Given the description of an element on the screen output the (x, y) to click on. 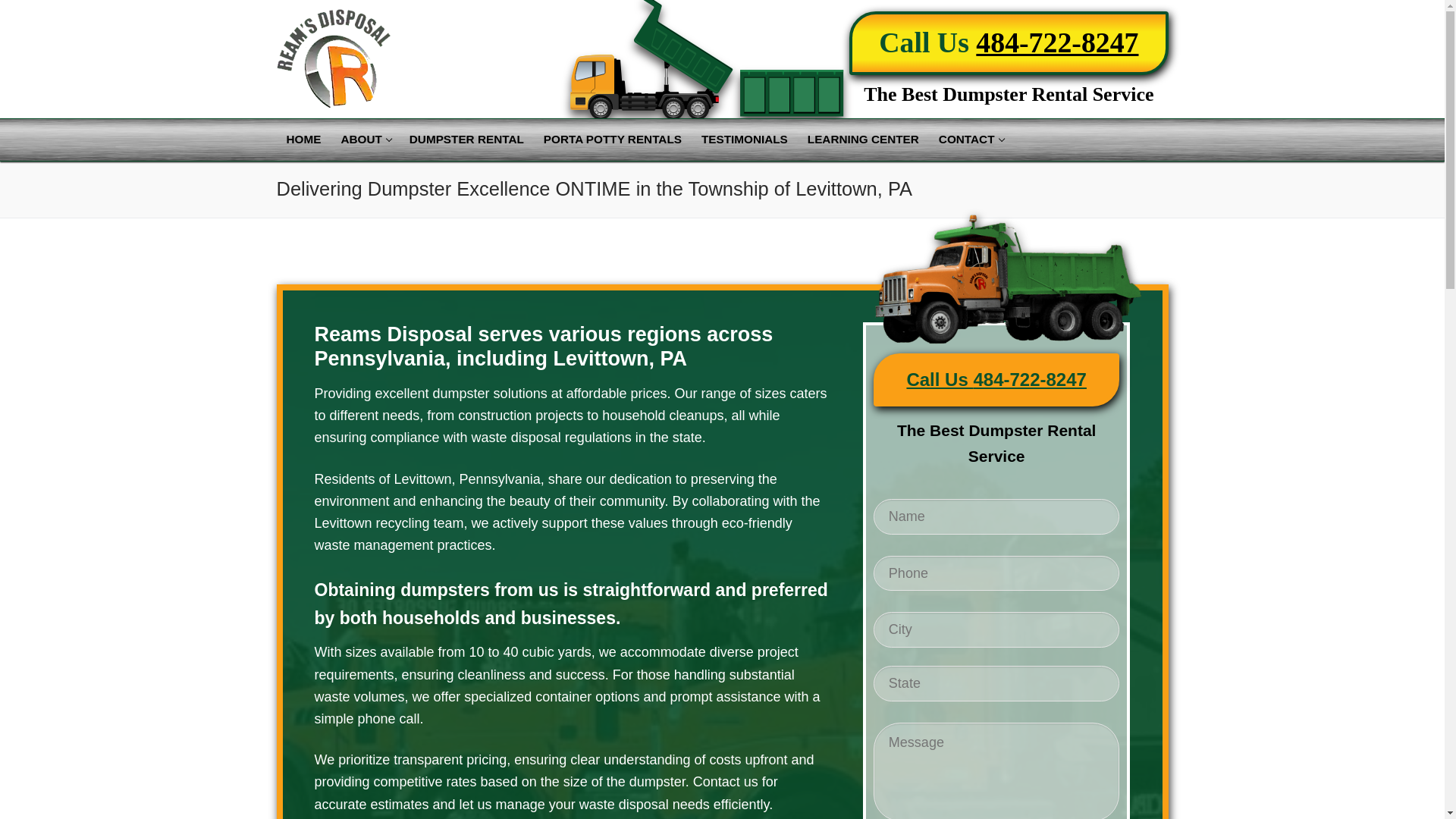
PORTA POTTY RENTALS (612, 139)
DUMPSTER RENTAL (364, 139)
TESTIMONIALS (466, 139)
HOME (744, 139)
Call Us 484-722-8247 (303, 139)
484-722-8247 (996, 379)
LEARNING CENTER (1056, 42)
